Given the description of an element on the screen output the (x, y) to click on. 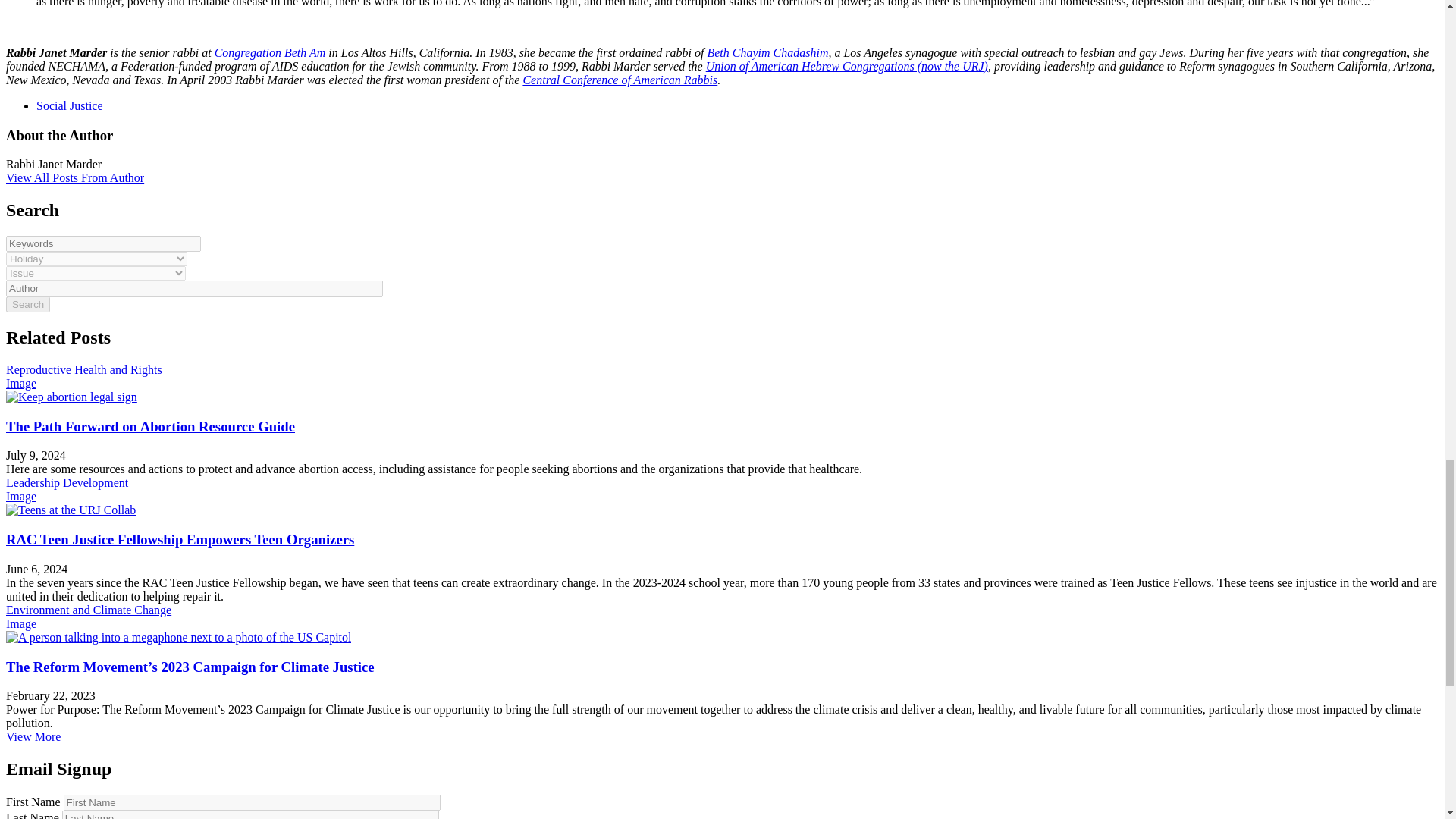
Search (27, 304)
Tuesday, July 9, 2024 - 01:02pm (35, 454)
Wednesday, February 22, 2023 - 10:37am (50, 695)
Thursday, June 6, 2024 - 01:48pm (35, 568)
